Given the description of an element on the screen output the (x, y) to click on. 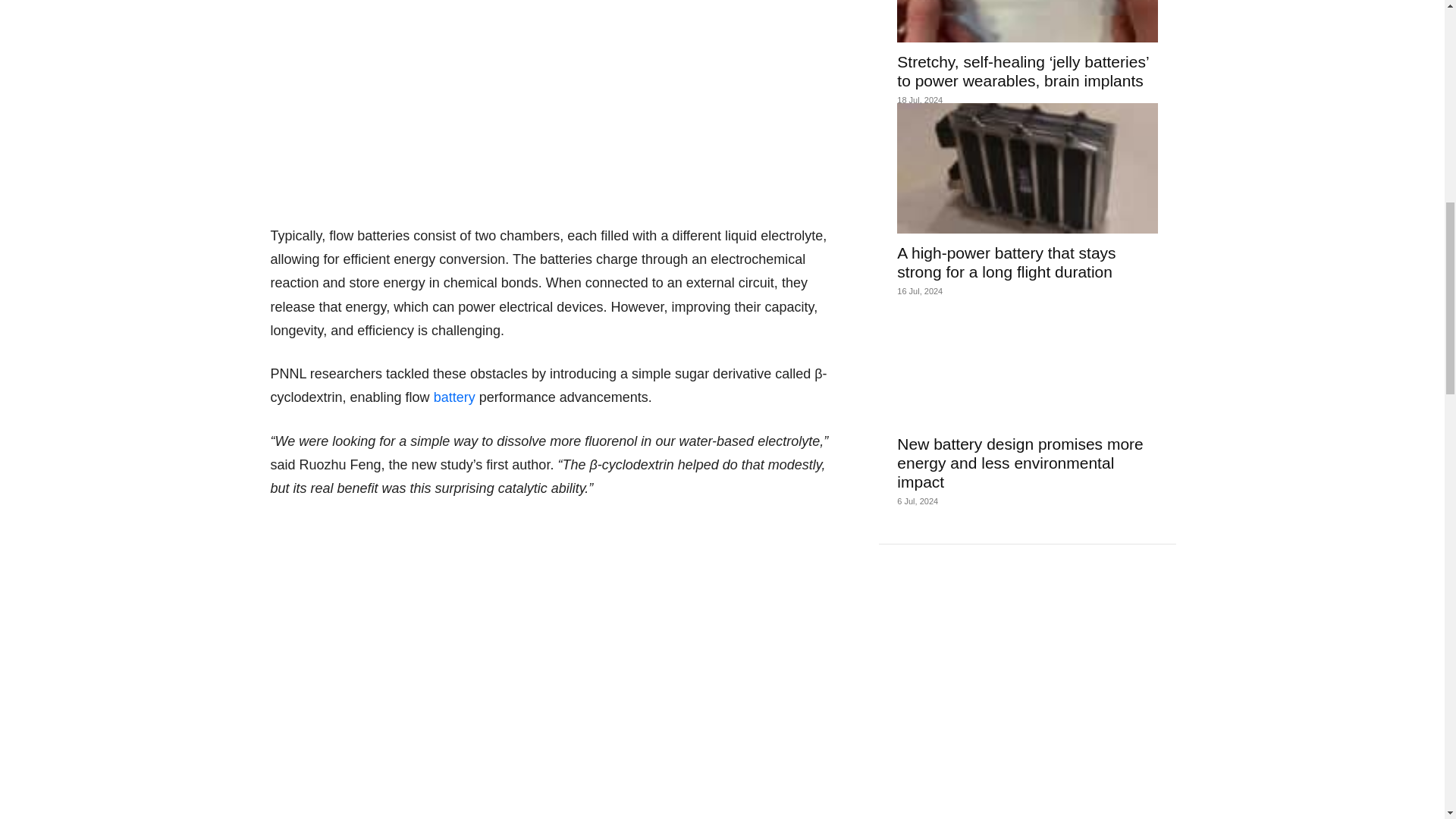
battery (454, 396)
